Given the description of an element on the screen output the (x, y) to click on. 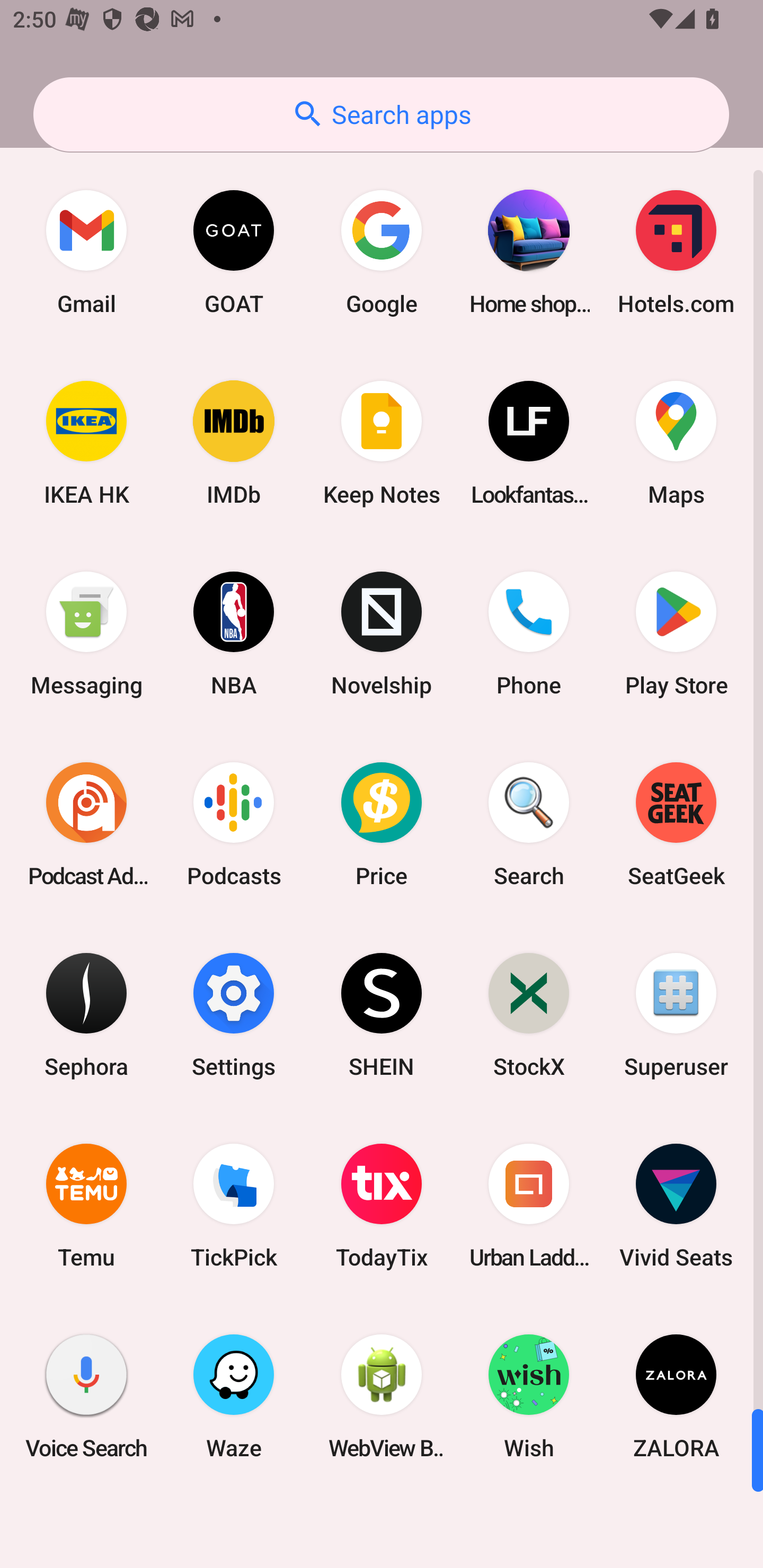
  Search apps (381, 114)
Gmail (86, 252)
GOAT (233, 252)
Google (381, 252)
Home shopping (528, 252)
Hotels.com (676, 252)
IKEA HK (86, 442)
IMDb (233, 442)
Keep Notes (381, 442)
Lookfantastic (528, 442)
Maps (676, 442)
Messaging (86, 633)
NBA (233, 633)
Novelship (381, 633)
Phone (528, 633)
Play Store (676, 633)
Podcast Addict (86, 823)
Podcasts (233, 823)
Price (381, 823)
Search (528, 823)
SeatGeek (676, 823)
Sephora (86, 1014)
Settings (233, 1014)
SHEIN (381, 1014)
StockX (528, 1014)
Superuser (676, 1014)
Temu (86, 1205)
TickPick (233, 1205)
TodayTix (381, 1205)
Urban Ladder (528, 1205)
Vivid Seats (676, 1205)
Voice Search (86, 1396)
Waze (233, 1396)
WebView Browser Tester (381, 1396)
Wish (528, 1396)
ZALORA (676, 1396)
